Given the description of an element on the screen output the (x, y) to click on. 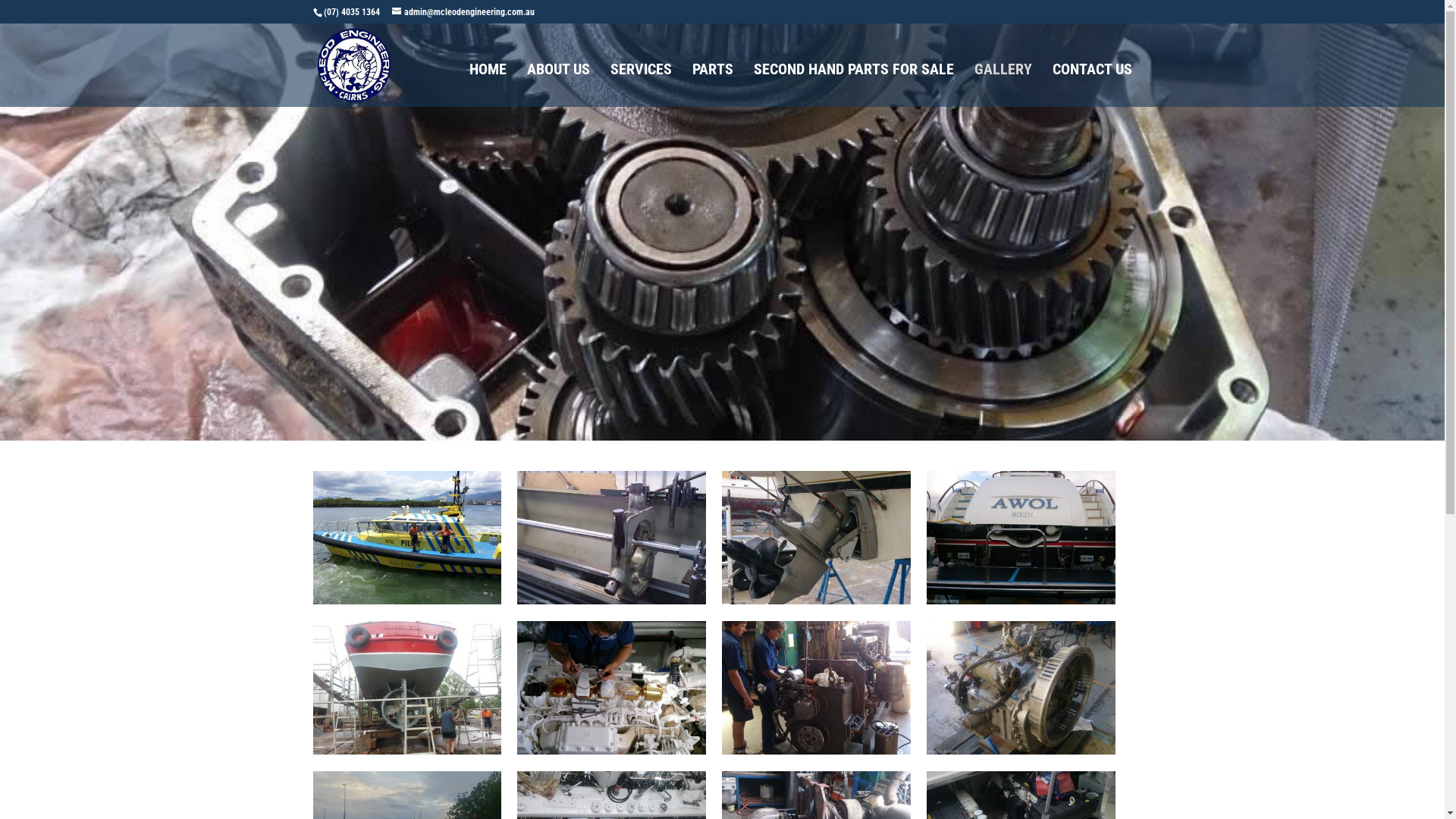
gallery17 Element type: hover (406, 749)
admin@mcleodengineering.com.au Element type: text (462, 11)
gallery19 Element type: hover (815, 598)
HOME Element type: text (486, 84)
CONTACT US Element type: text (1092, 84)
SECOND HAND PARTS FOR SALE Element type: text (853, 84)
gallery18 Element type: hover (1020, 598)
ABOUT US Element type: text (557, 84)
gallery20 Element type: hover (611, 598)
gallery15 Element type: hover (815, 749)
GALLERY Element type: text (1002, 84)
PARTS Element type: text (711, 84)
gallery21 Element type: hover (406, 598)
gallery14 Element type: hover (1020, 749)
gallery16 Element type: hover (611, 749)
SERVICES Element type: text (640, 84)
